Given the description of an element on the screen output the (x, y) to click on. 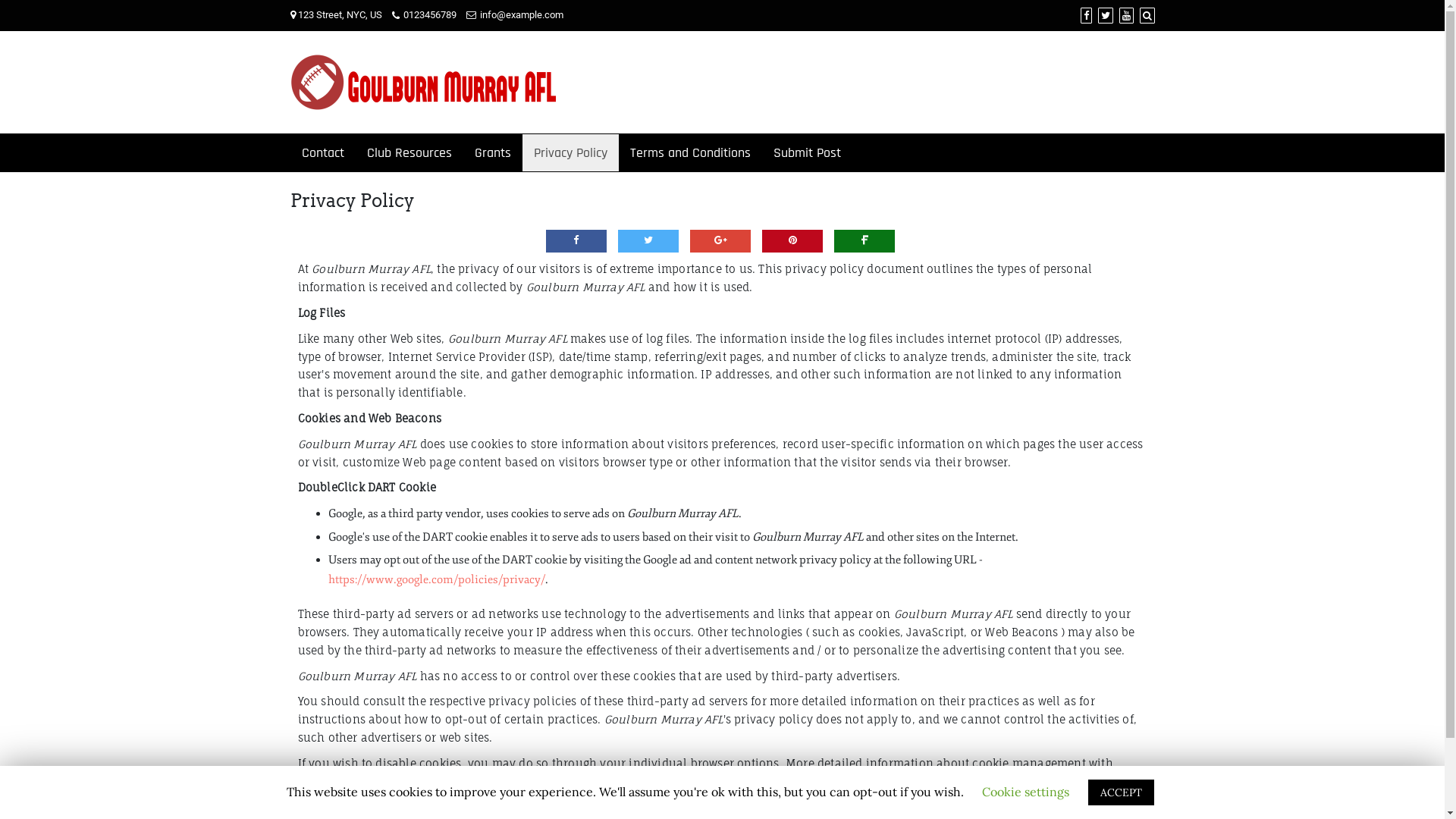
https://www.google.com/policies/privacy/ Element type: text (435, 579)
Terms and Conditions Element type: text (690, 152)
Submit Post Element type: text (806, 152)
Cookie settings Element type: text (1025, 791)
Club Resources Element type: text (408, 152)
ACCEPT Element type: text (1121, 792)
Privacy Policy Element type: text (569, 152)
0123456789 Element type: text (423, 14)
info@example.com Element type: text (513, 14)
Contact Element type: text (321, 152)
Grants Element type: text (491, 152)
